Given the description of an element on the screen output the (x, y) to click on. 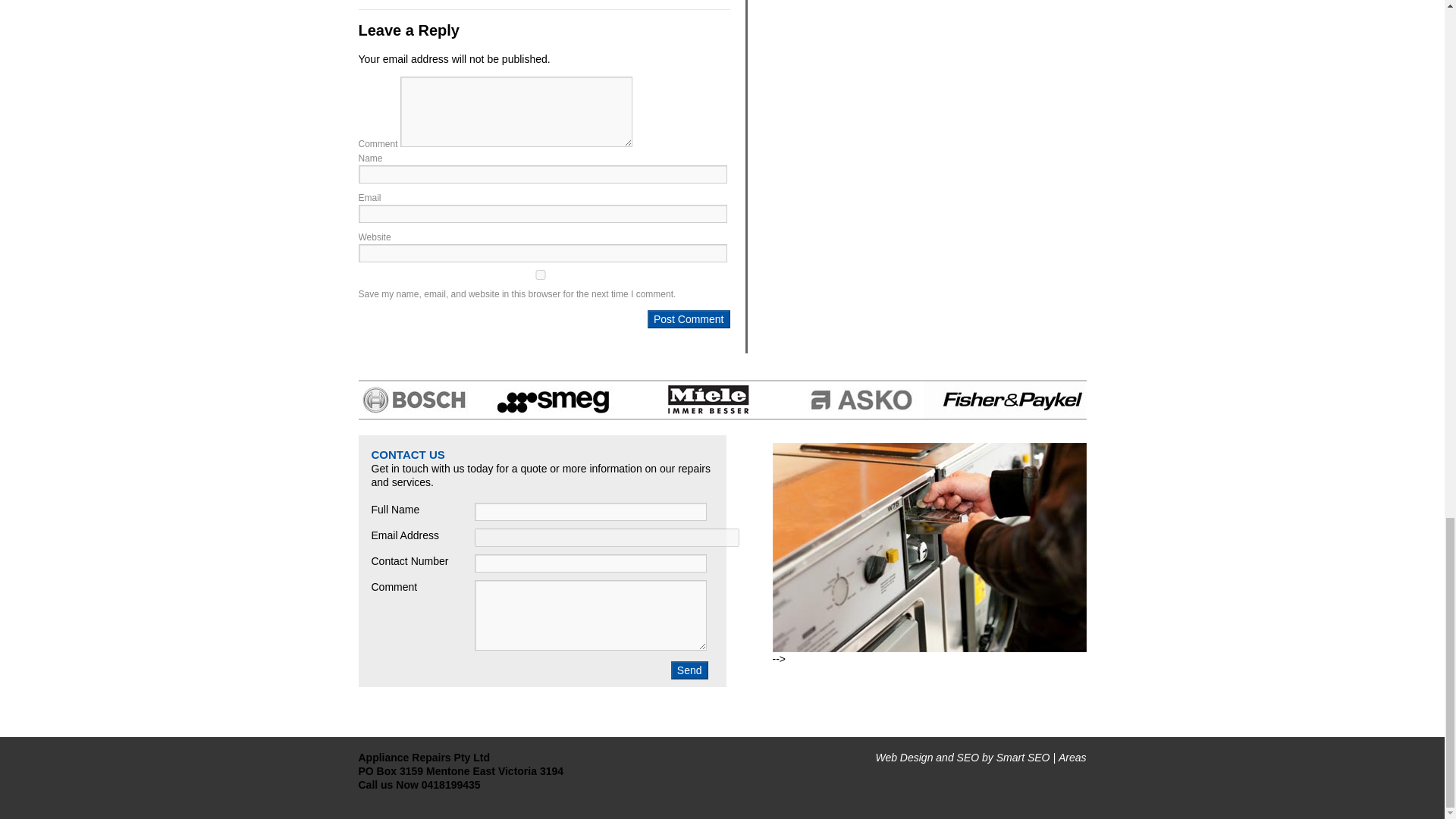
Areas (1072, 757)
yes (540, 275)
Send (689, 669)
Post Comment (688, 319)
Post Comment (688, 319)
0418199435 (451, 784)
Send (689, 669)
